Given the description of an element on the screen output the (x, y) to click on. 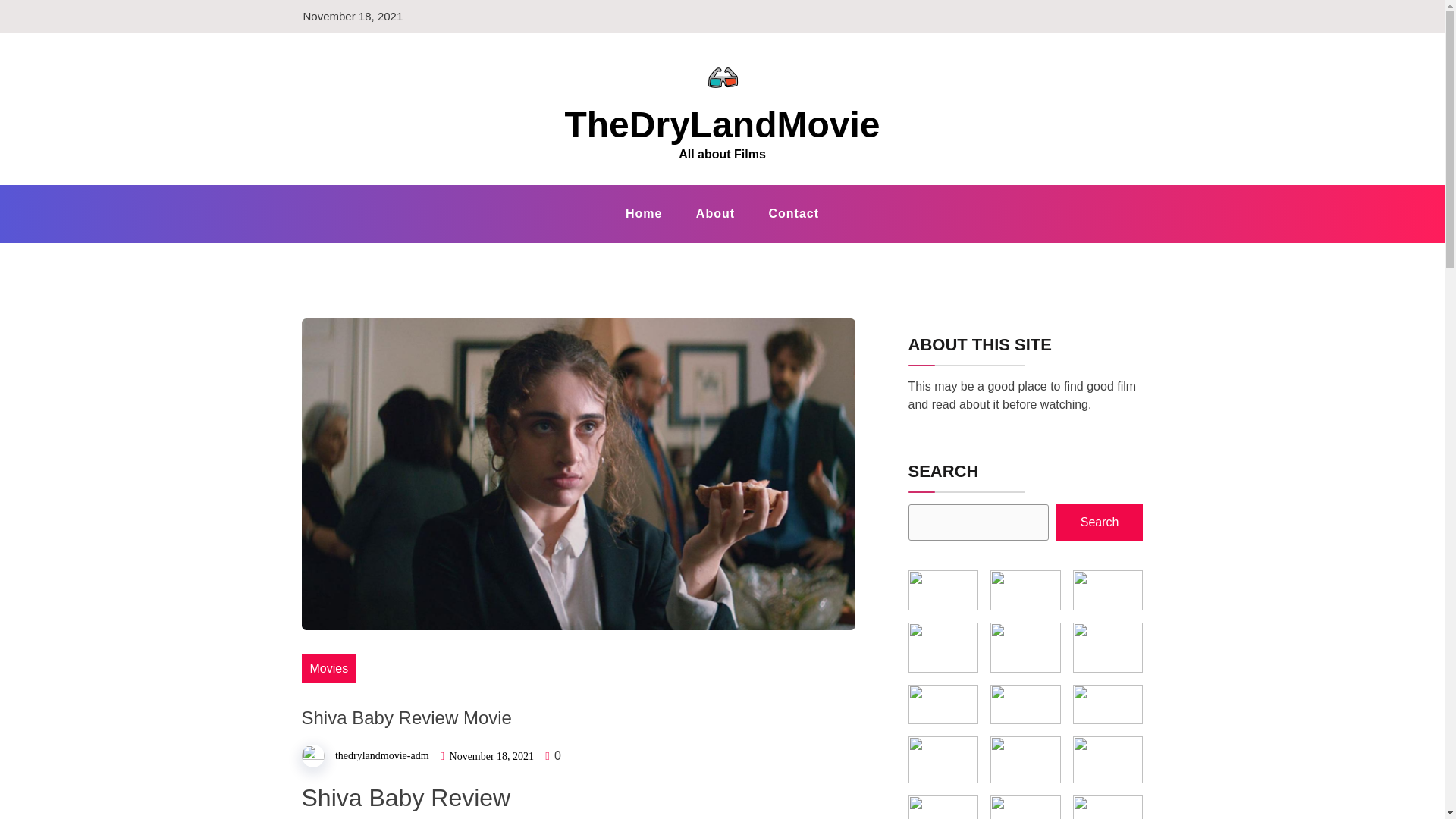
TheDryLandMovie (721, 124)
Contact (794, 213)
November 18, 2021 (491, 756)
Movies (328, 668)
Home (643, 213)
Search (1099, 522)
TheDryLandMovie (721, 124)
About (715, 213)
thedrylandmovie-adm (381, 755)
